Given the description of an element on the screen output the (x, y) to click on. 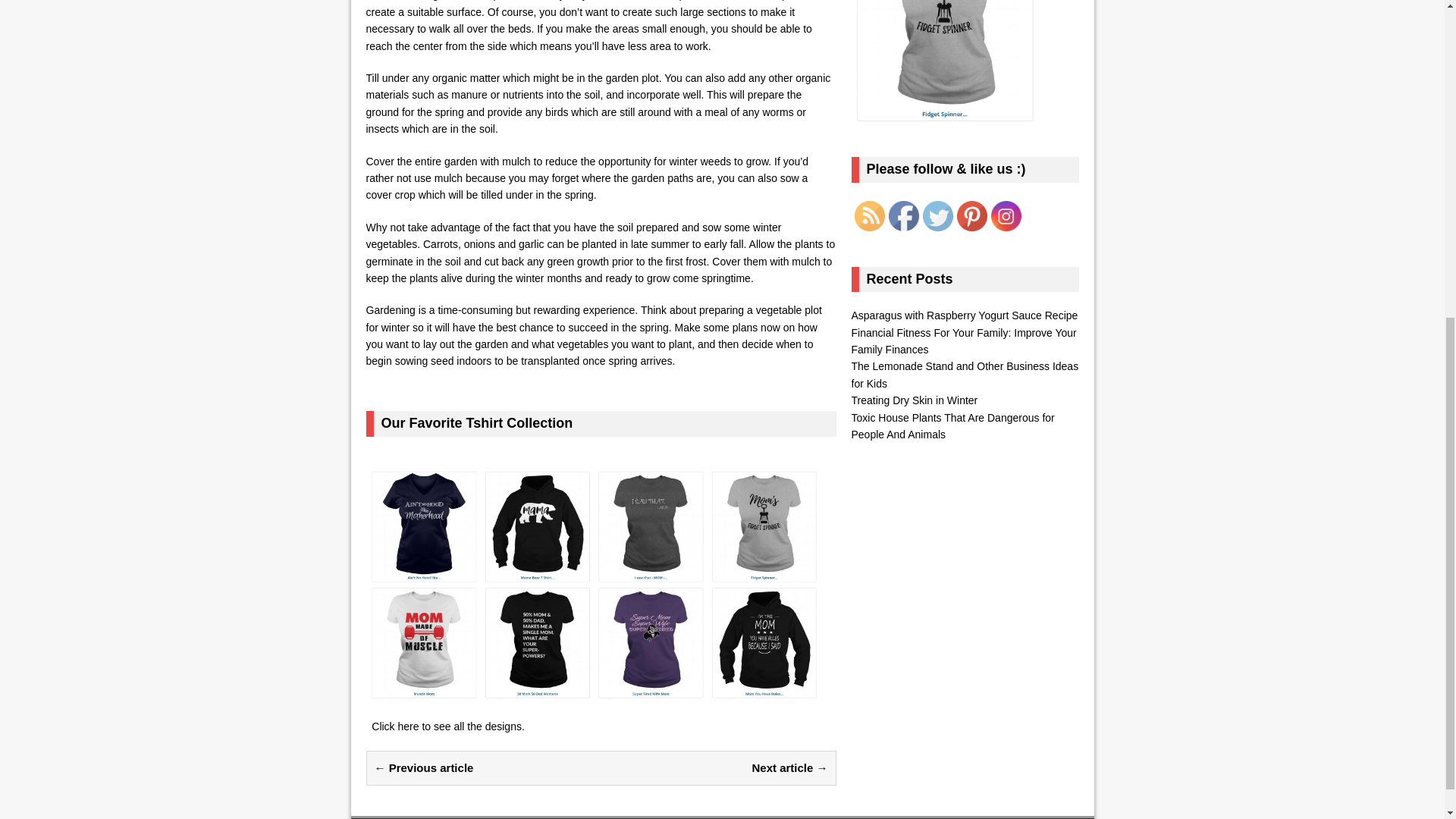
Twitter (936, 215)
Pinterest (971, 215)
Click here to see all the designs (446, 726)
Toxic House Plants That Are Dangerous for People And Animals (952, 425)
Treating Dry Skin in Winter (913, 399)
Instagram (1005, 215)
Asparagus with Raspberry Yogurt Sauce Recipe (963, 315)
RSS (868, 215)
Facebook (903, 215)
The Lemonade Stand and Other Business Ideas for Kids (964, 374)
